Given the description of an element on the screen output the (x, y) to click on. 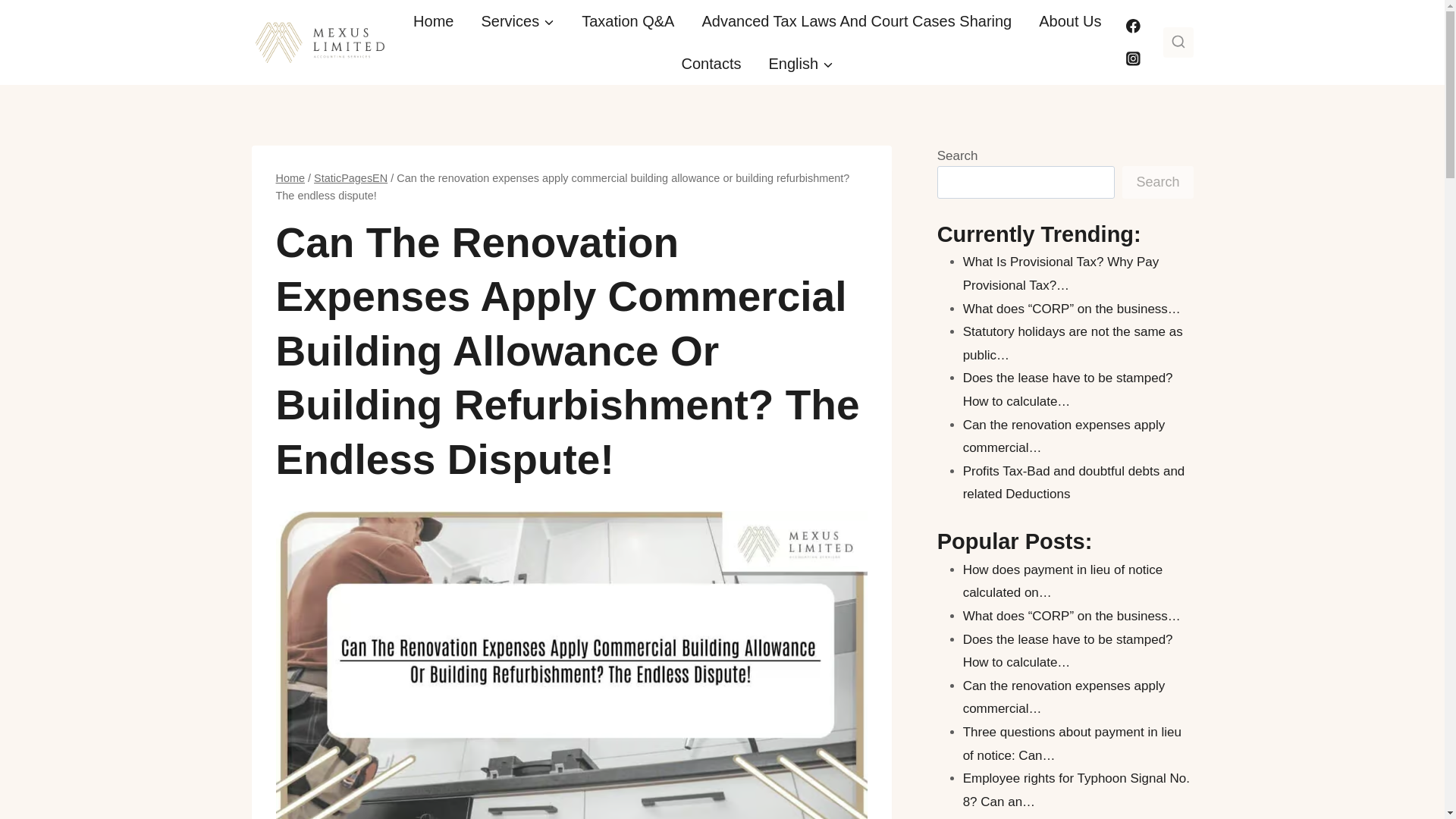
Home (432, 21)
About Us (1070, 21)
English (800, 63)
Advanced Tax Laws And Court Cases Sharing (856, 21)
Home (290, 177)
StaticPagesEN (350, 177)
Contacts (711, 63)
Services (517, 21)
